Given the description of an element on the screen output the (x, y) to click on. 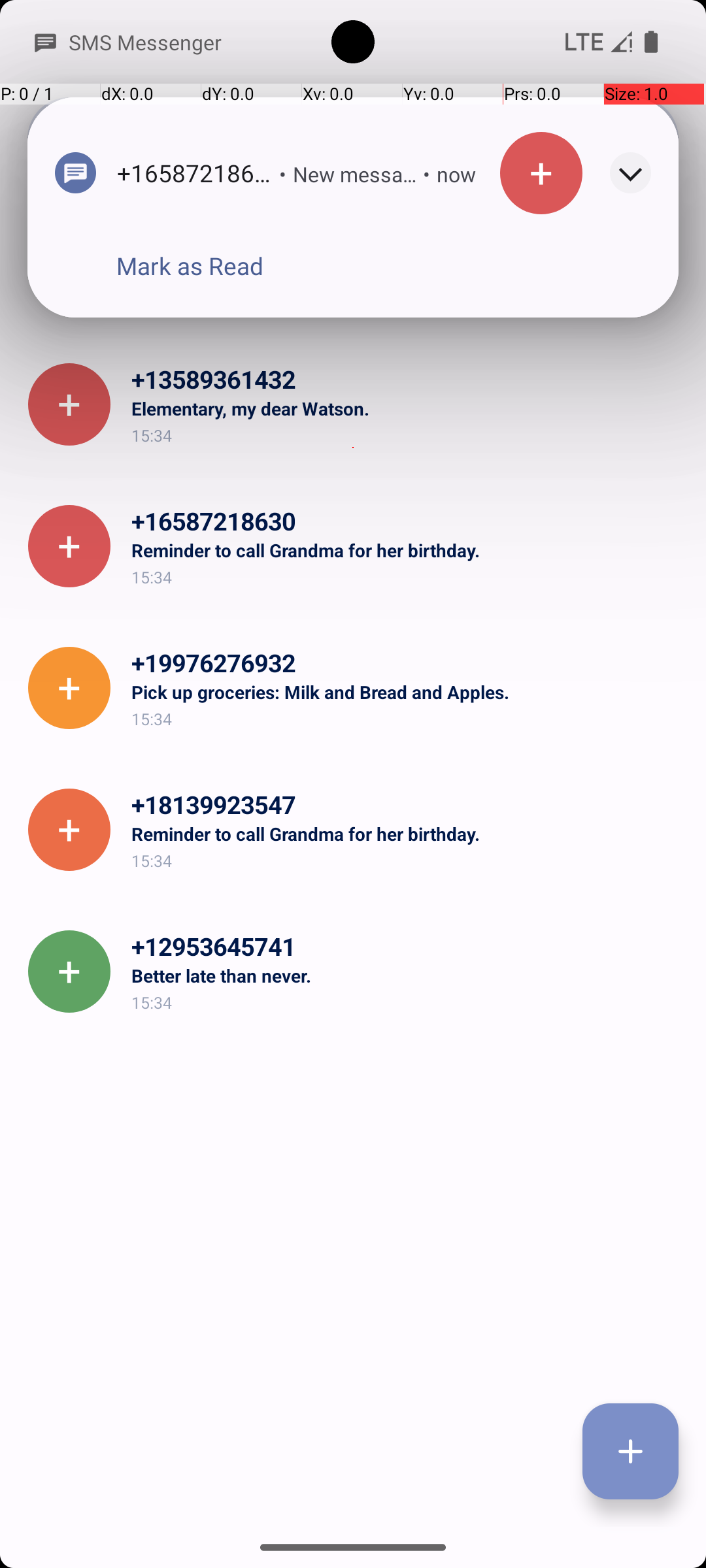
+14727303323 Element type: android.widget.TextView (408, 237)
Cleanliness is next to godliness. Element type: android.widget.TextView (408, 266)
+13589361432 Element type: android.widget.TextView (408, 378)
Elementary, my dear Watson. Element type: android.widget.TextView (408, 407)
+16587218630 Element type: android.widget.TextView (408, 520)
Reminder to call Grandma for her birthday. Element type: android.widget.TextView (408, 549)
+19976276932 Element type: android.widget.TextView (408, 662)
Pick up groceries: Milk and Bread and Apples. Element type: android.widget.TextView (408, 691)
+18139923547 Element type: android.widget.TextView (408, 804)
+12953645741 Element type: android.widget.TextView (408, 946)
Better late than never. Element type: android.widget.TextView (408, 975)
Mark as Read Element type: android.widget.Button (189, 265)
• Element type: android.widget.TextView (254, 174)
New message Element type: android.widget.TextView (326, 174)
now Element type: android.widget.TextView (427, 174)
Alerted Element type: android.widget.ImageView (468, 175)
